Given the description of an element on the screen output the (x, y) to click on. 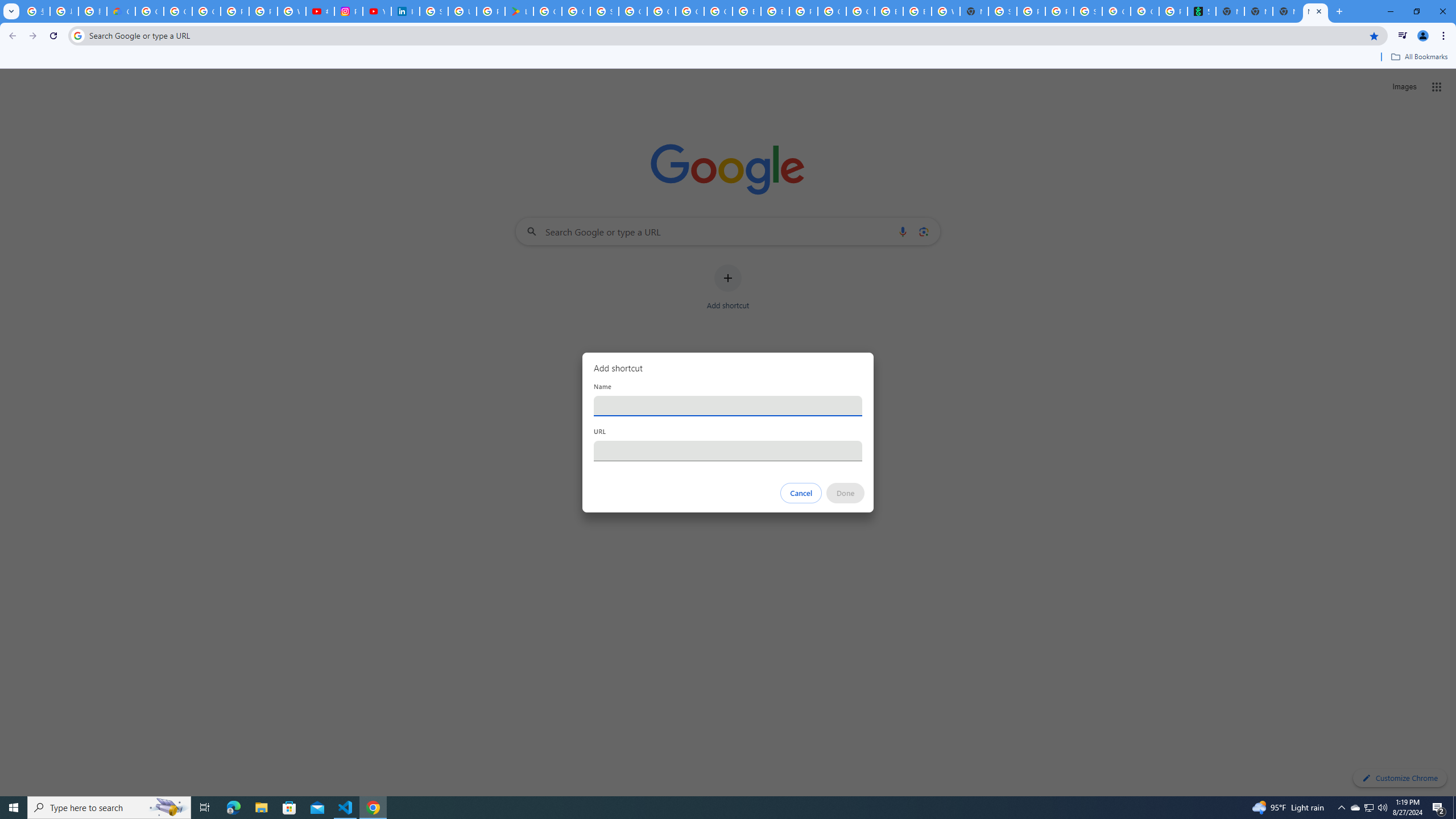
New Tab (973, 11)
